Given the description of an element on the screen output the (x, y) to click on. 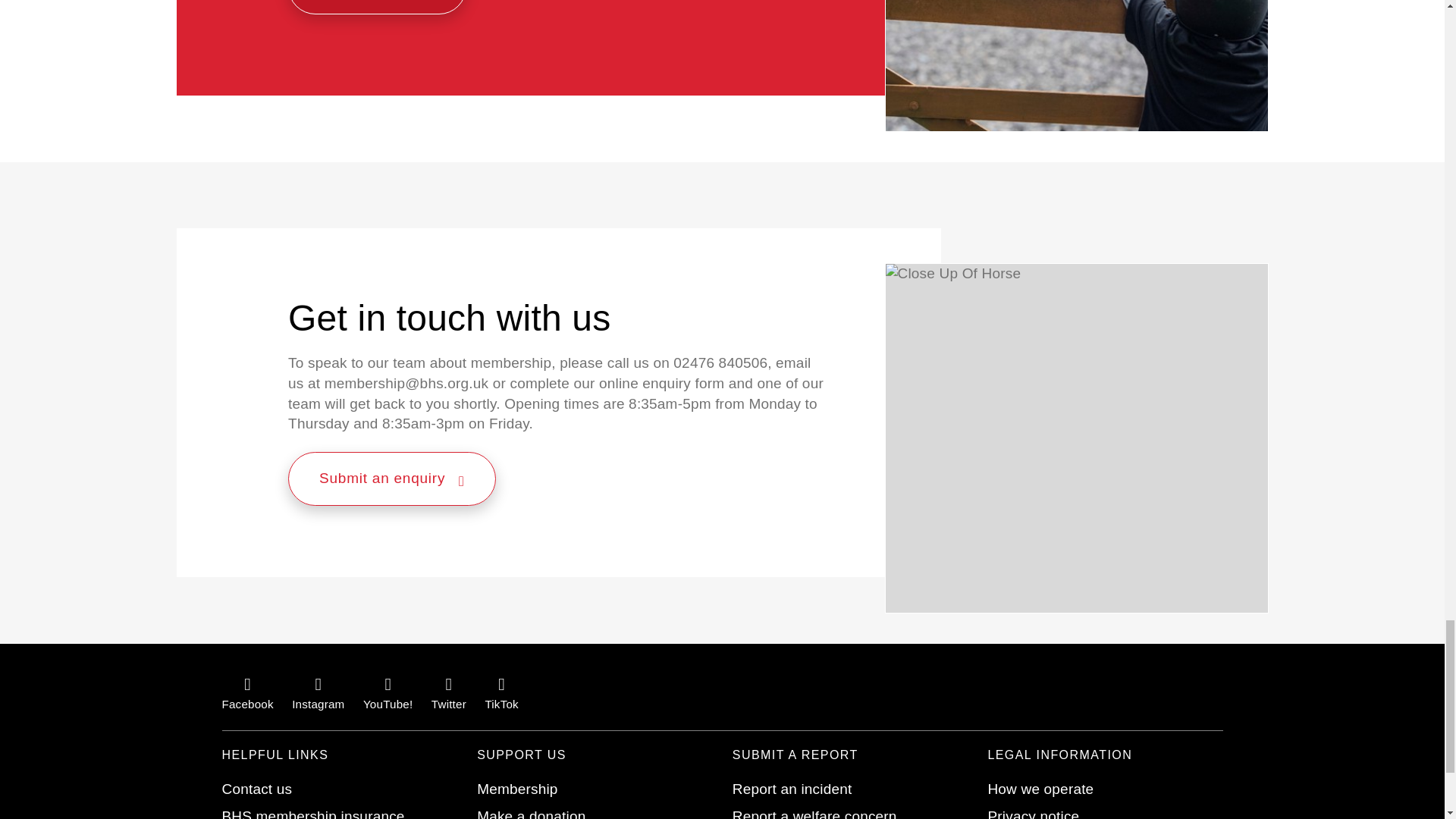
The BHS Facebook profile (247, 692)
The BHS instagram profile (317, 692)
The BHS Youtube profile (387, 692)
